Given the description of an element on the screen output the (x, y) to click on. 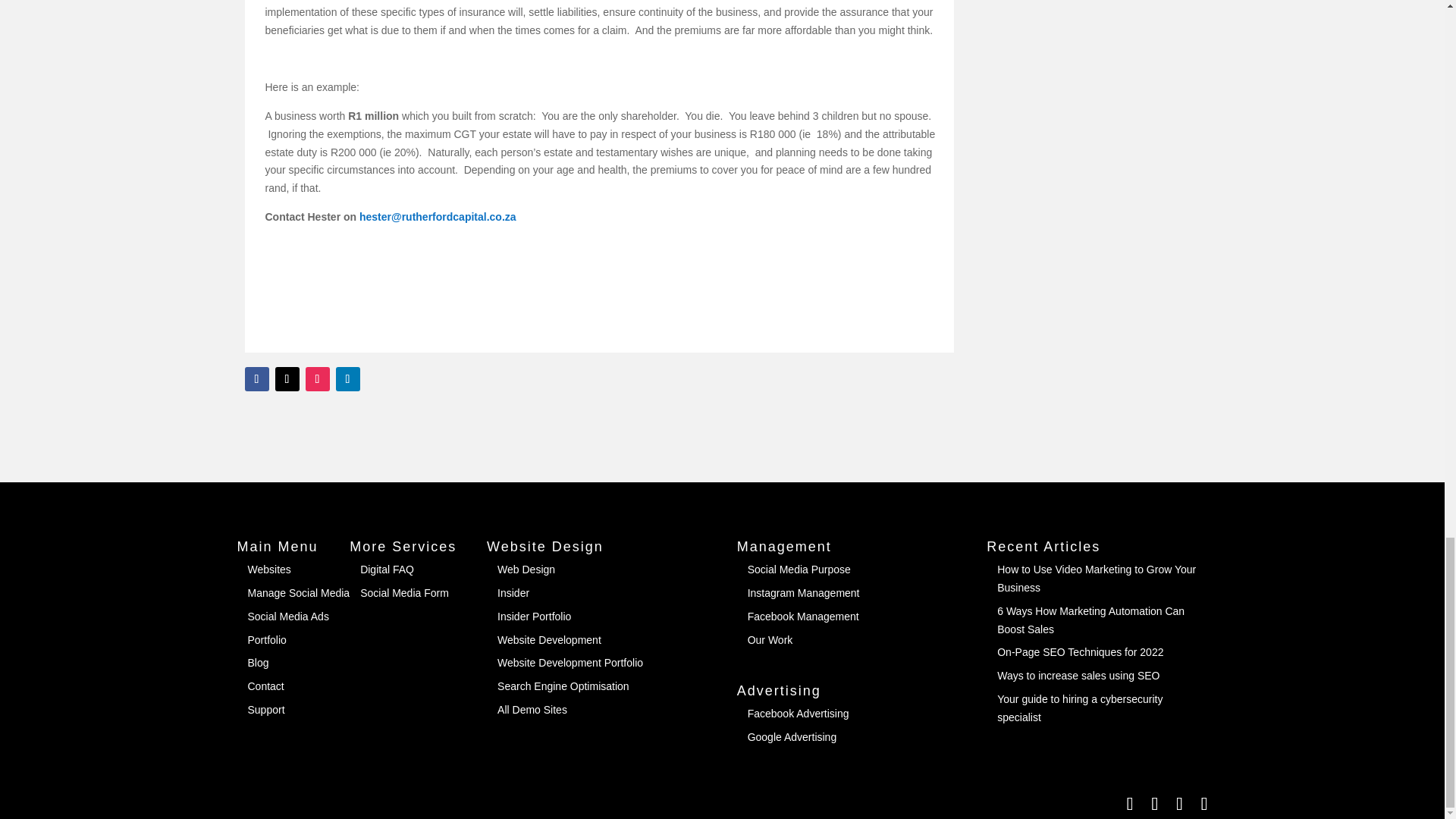
Websites (268, 569)
Portfolio (266, 639)
Support (265, 709)
Follow on Instagram (316, 378)
Manage Social Media (298, 592)
Contact (265, 686)
Follow on Facebook (255, 378)
Web Design (525, 569)
Blog (257, 662)
Social Media Ads (288, 616)
